Given the description of an element on the screen output the (x, y) to click on. 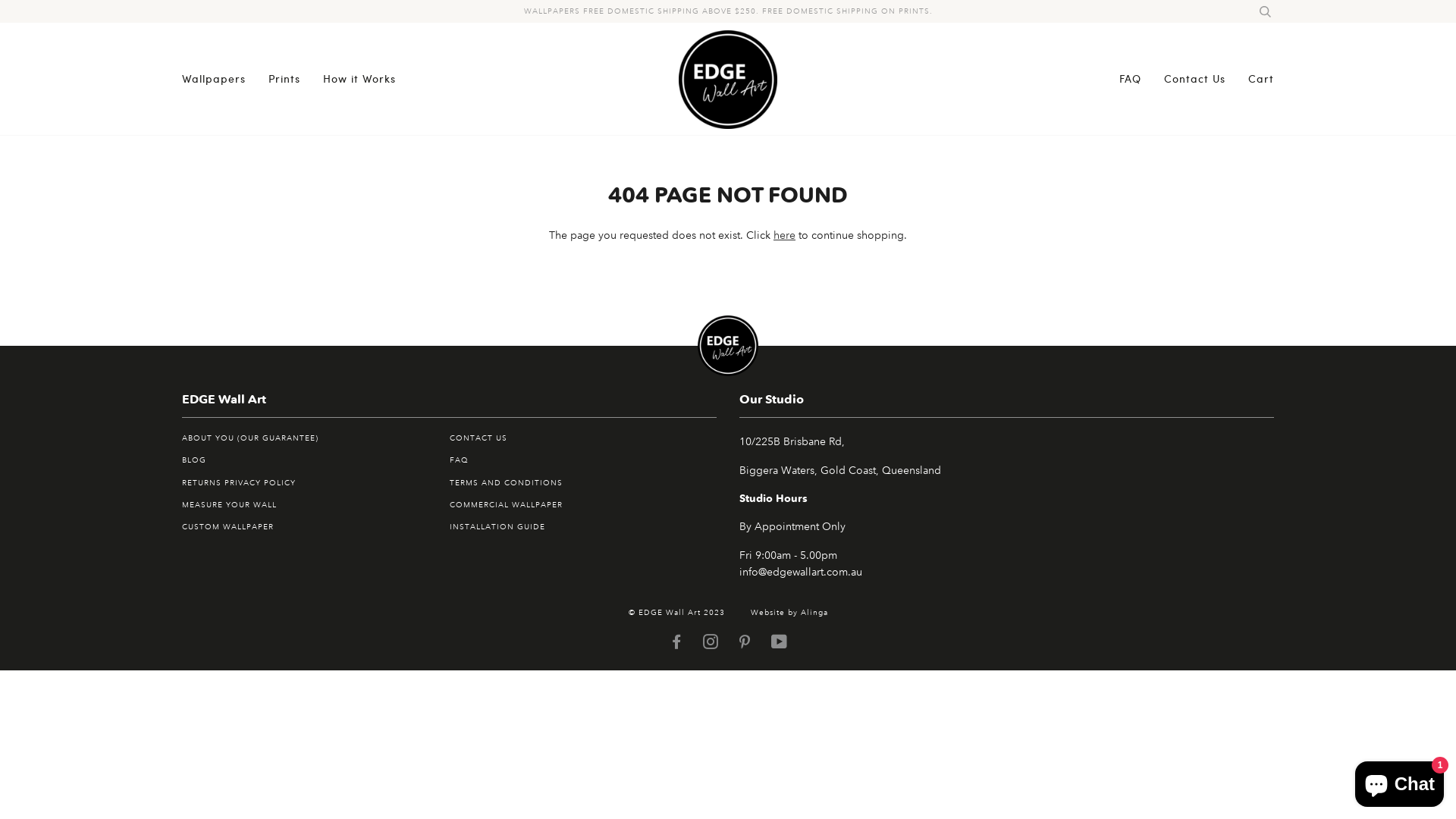
INSTAGRAM Element type: text (710, 644)
Prints Element type: text (284, 78)
MEASURE YOUR WALL Element type: text (229, 504)
YOUTUBE Element type: text (778, 644)
Wallpapers Element type: text (213, 78)
FAQ Element type: text (1130, 78)
INSTALLATION GUIDE Element type: text (496, 526)
PINTEREST Element type: text (745, 644)
CUSTOM WALLPAPER Element type: text (227, 526)
COMMERCIAL WALLPAPER Element type: text (504, 504)
CONTACT US Element type: text (477, 437)
BLOG Element type: text (194, 459)
Contact Us Element type: text (1194, 78)
FACEBOOK Element type: text (676, 644)
How it Works Element type: text (359, 78)
Website by Alinga Element type: text (789, 612)
Cart Element type: text (1261, 78)
RETURNS PRIVACY POLICY Element type: text (238, 482)
FAQ Element type: text (457, 459)
ABOUT YOU (OUR GUARANTEE) Element type: text (250, 437)
Shopify online store chat Element type: hover (1399, 780)
TERMS AND CONDITIONS Element type: text (504, 482)
here Element type: text (784, 234)
